Given the description of an element on the screen output the (x, y) to click on. 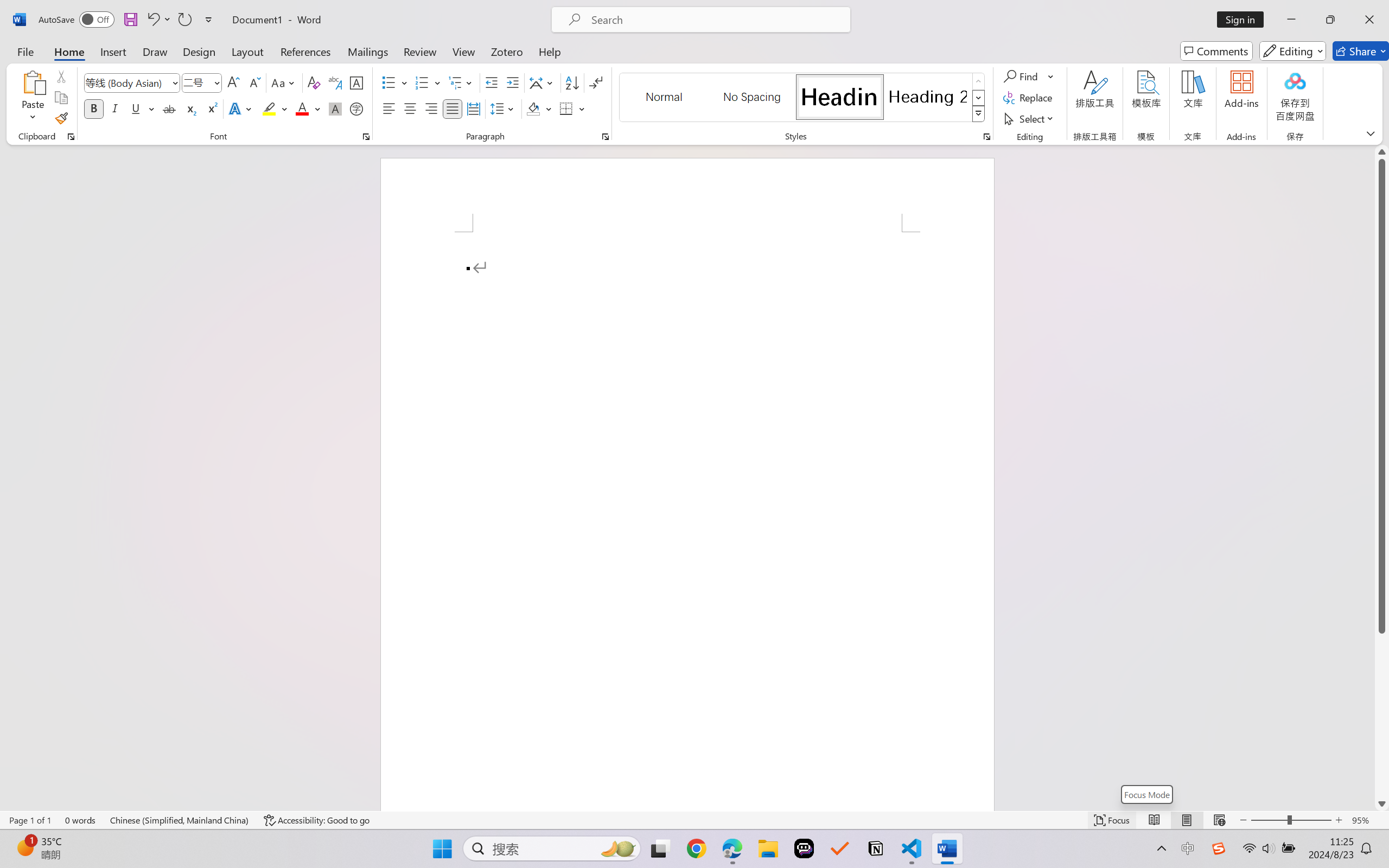
Line up (1382, 151)
